Given the description of an element on the screen output the (x, y) to click on. 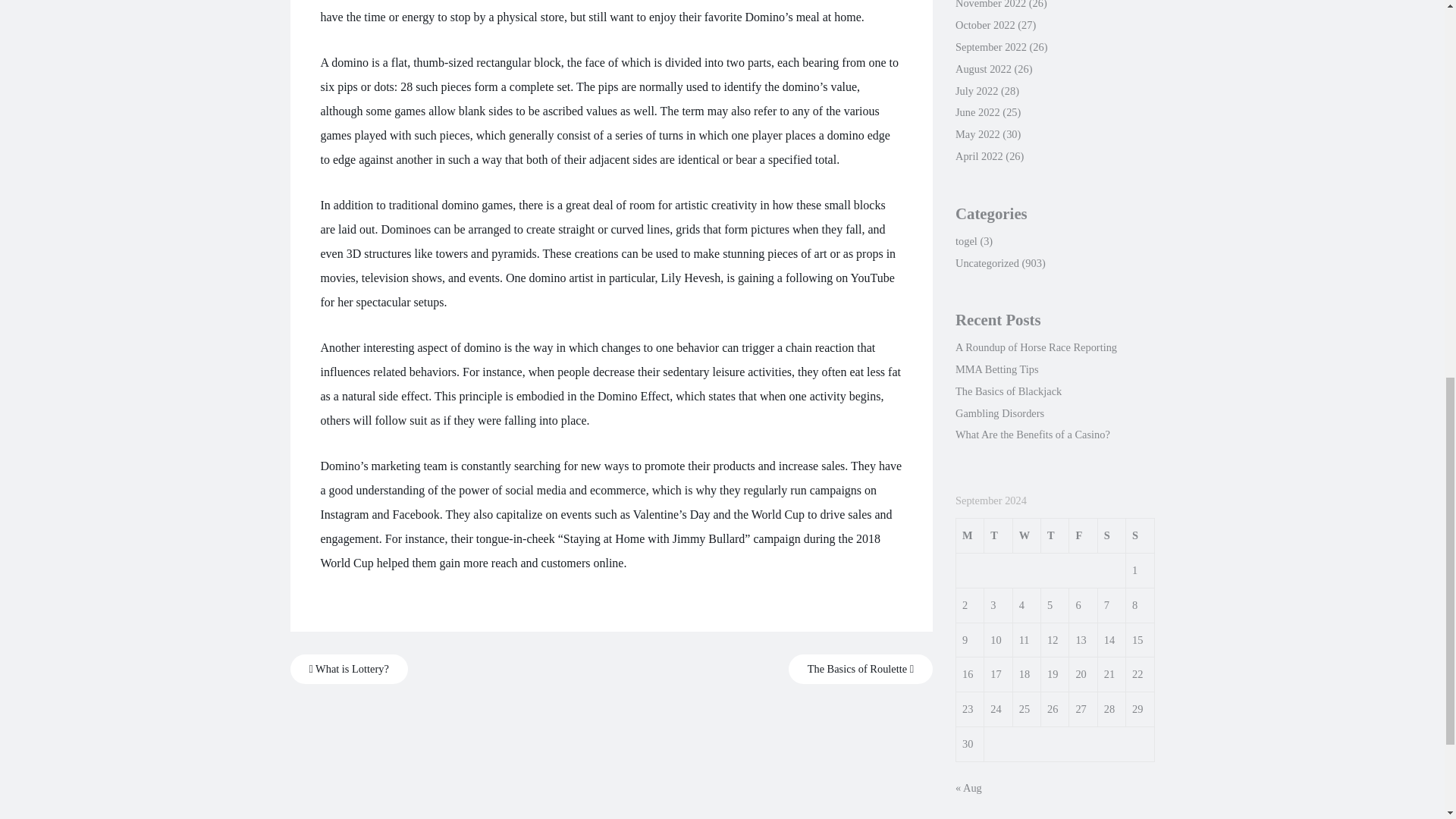
May 2022 (977, 133)
August 2022 (983, 69)
October 2022 (984, 24)
November 2022 (990, 4)
The Basics of Roulette (861, 668)
What is Lottery? (348, 668)
June 2022 (977, 111)
September 2022 (990, 46)
April 2022 (979, 155)
July 2022 (976, 91)
